Given the description of an element on the screen output the (x, y) to click on. 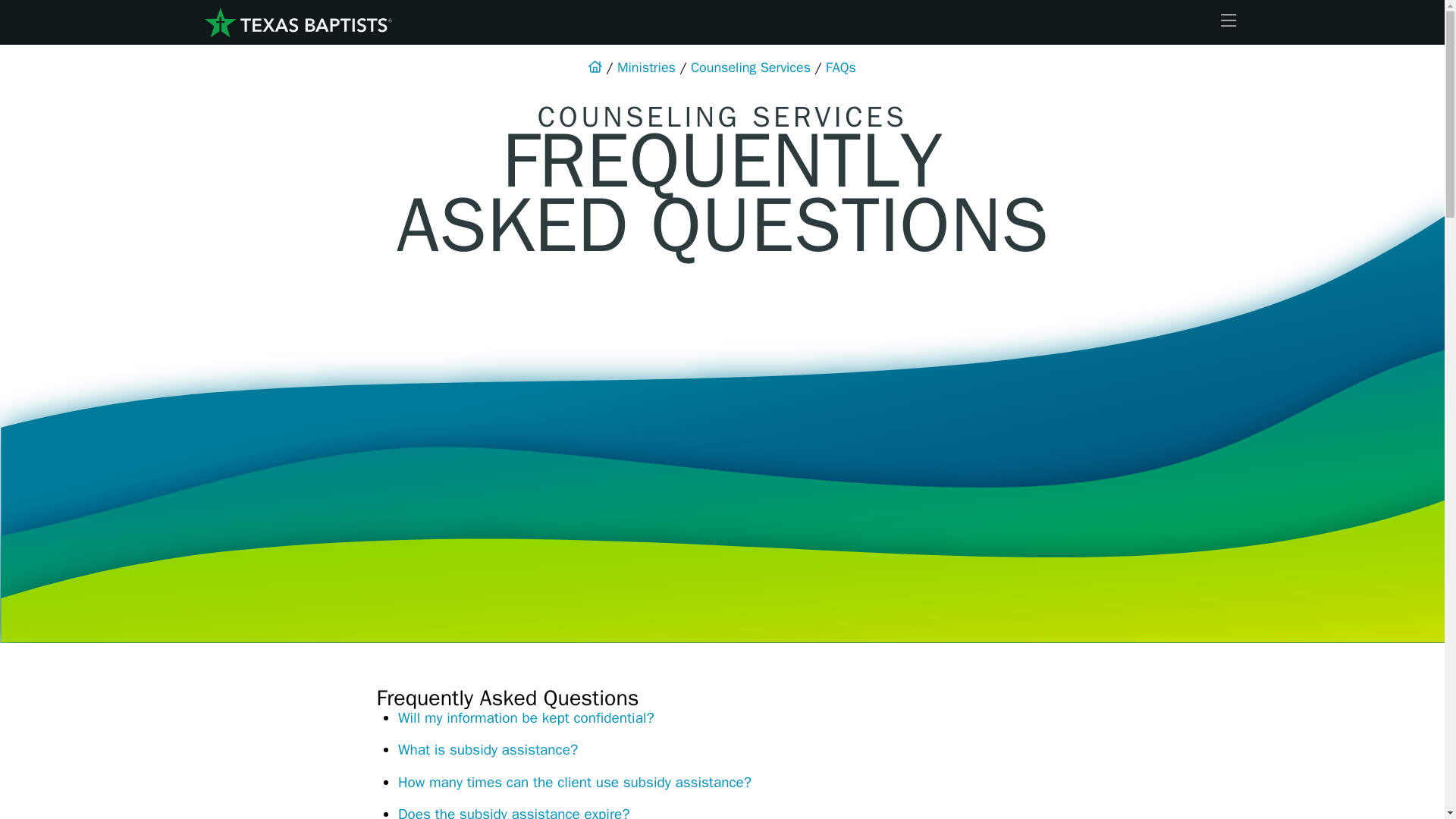
Home (297, 22)
What is subsidy assistance? (487, 750)
Ministries (646, 67)
How many times can the client use subsidy assistance? (574, 782)
Counseling Services (750, 67)
Ministries (646, 67)
Does the subsidy assistance expire? (512, 812)
Counseling Services (750, 67)
FAQs (840, 67)
FAQs (840, 67)
